Given the description of an element on the screen output the (x, y) to click on. 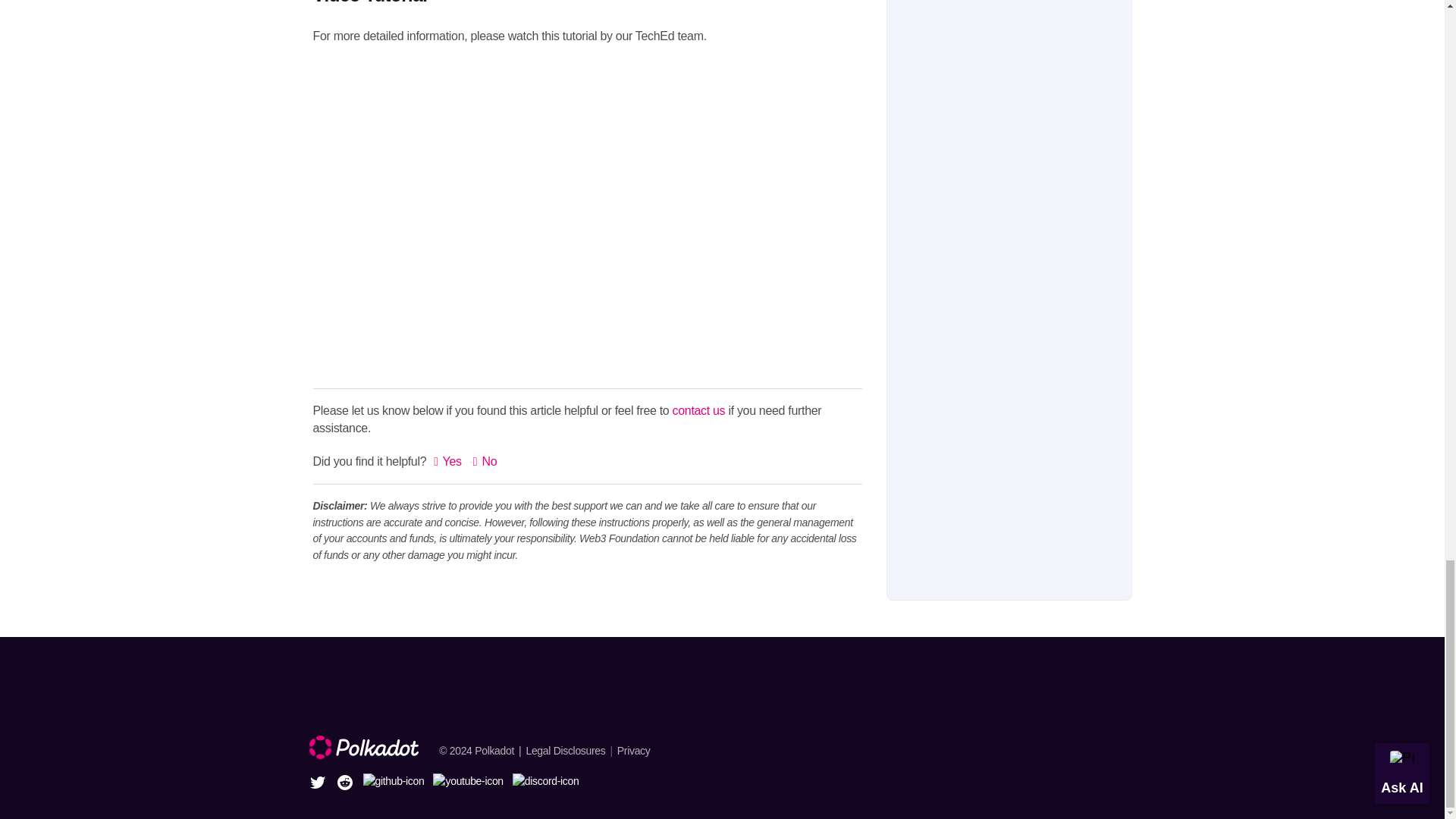
Legal Disclosures (570, 750)
contact us (698, 410)
Privacy (633, 750)
Polkadot (493, 750)
